Given the description of an element on the screen output the (x, y) to click on. 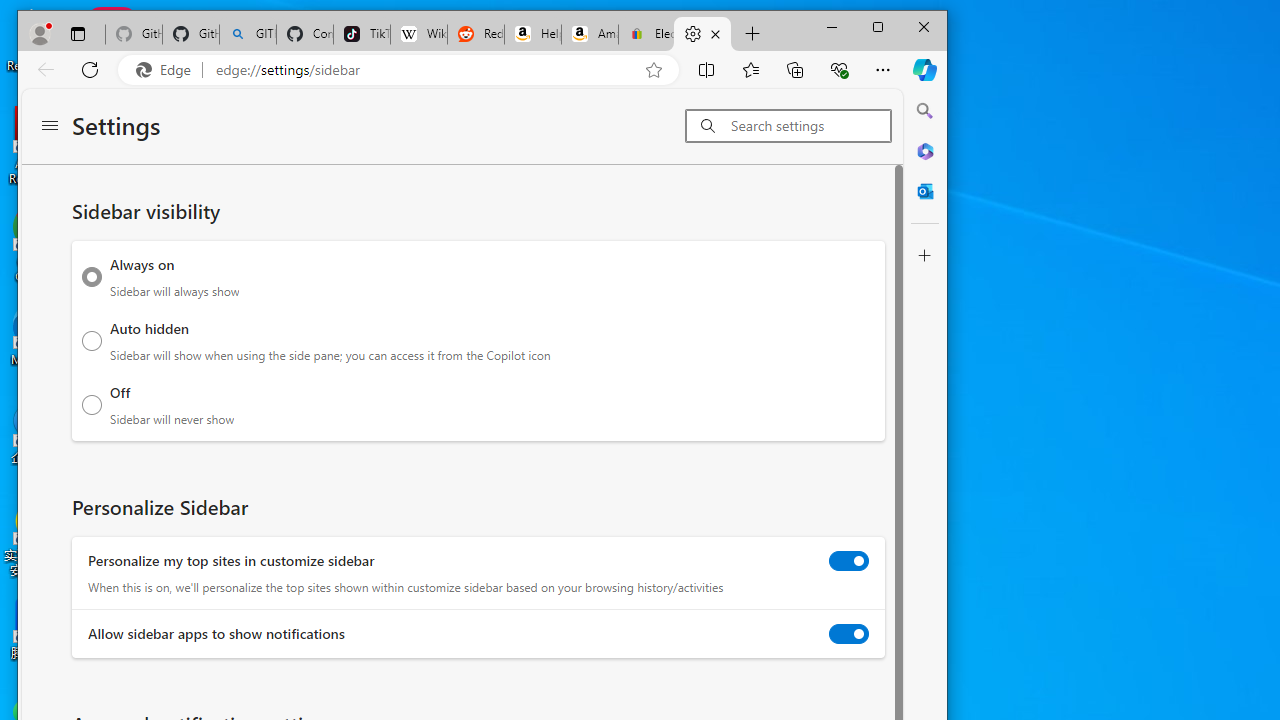
Settings menu (49, 126)
Search settings (809, 125)
GITHUB - Search (248, 34)
Amazon.com: Deals (589, 34)
